Given the description of an element on the screen output the (x, y) to click on. 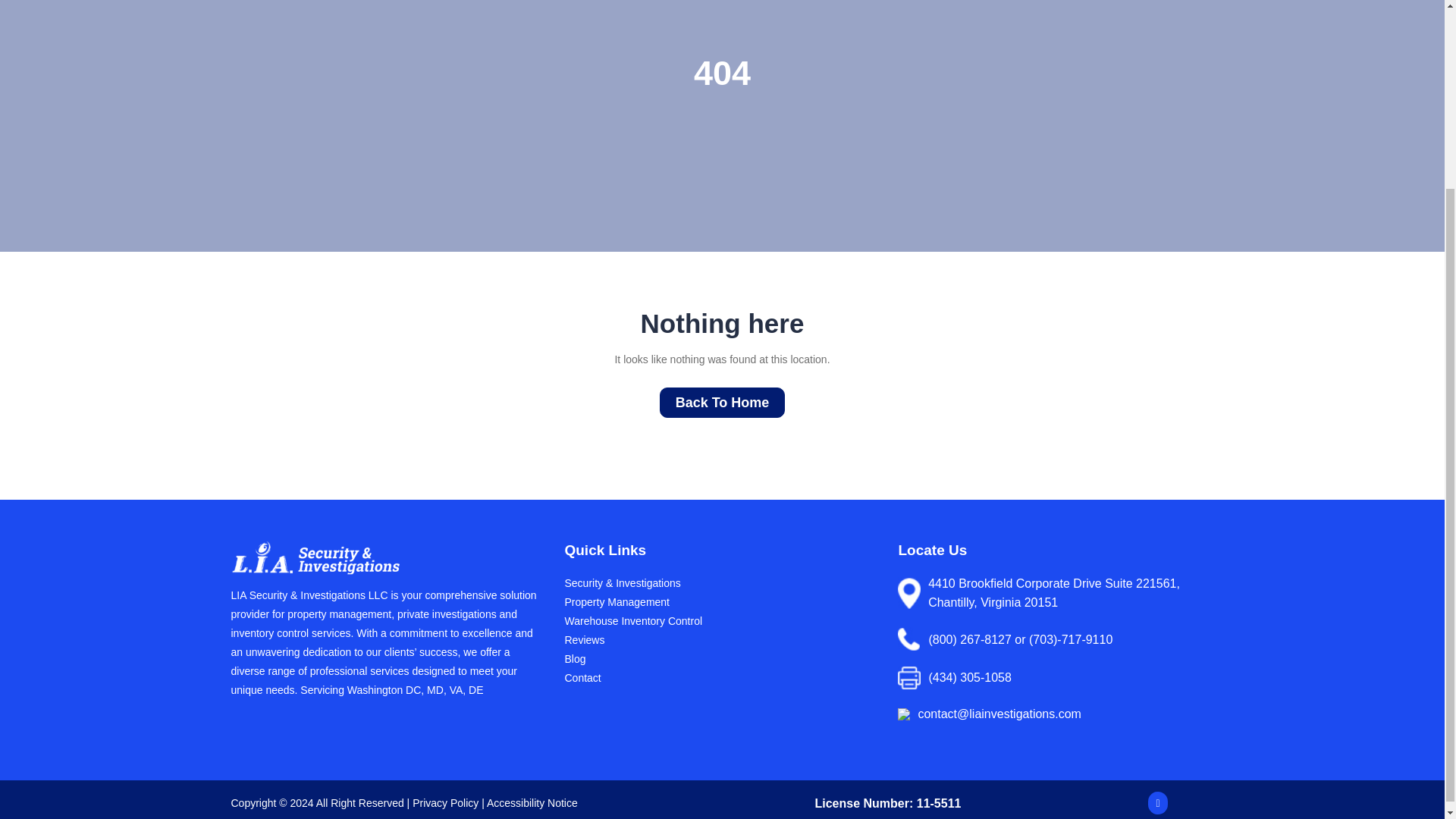
Property Management (616, 602)
Reviews (584, 639)
Warehouse Inventory Control (632, 621)
Privacy Policy (445, 802)
Accessibility Notice (532, 802)
Blog (574, 658)
Contact (581, 677)
Back To Home (722, 402)
